Given the description of an element on the screen output the (x, y) to click on. 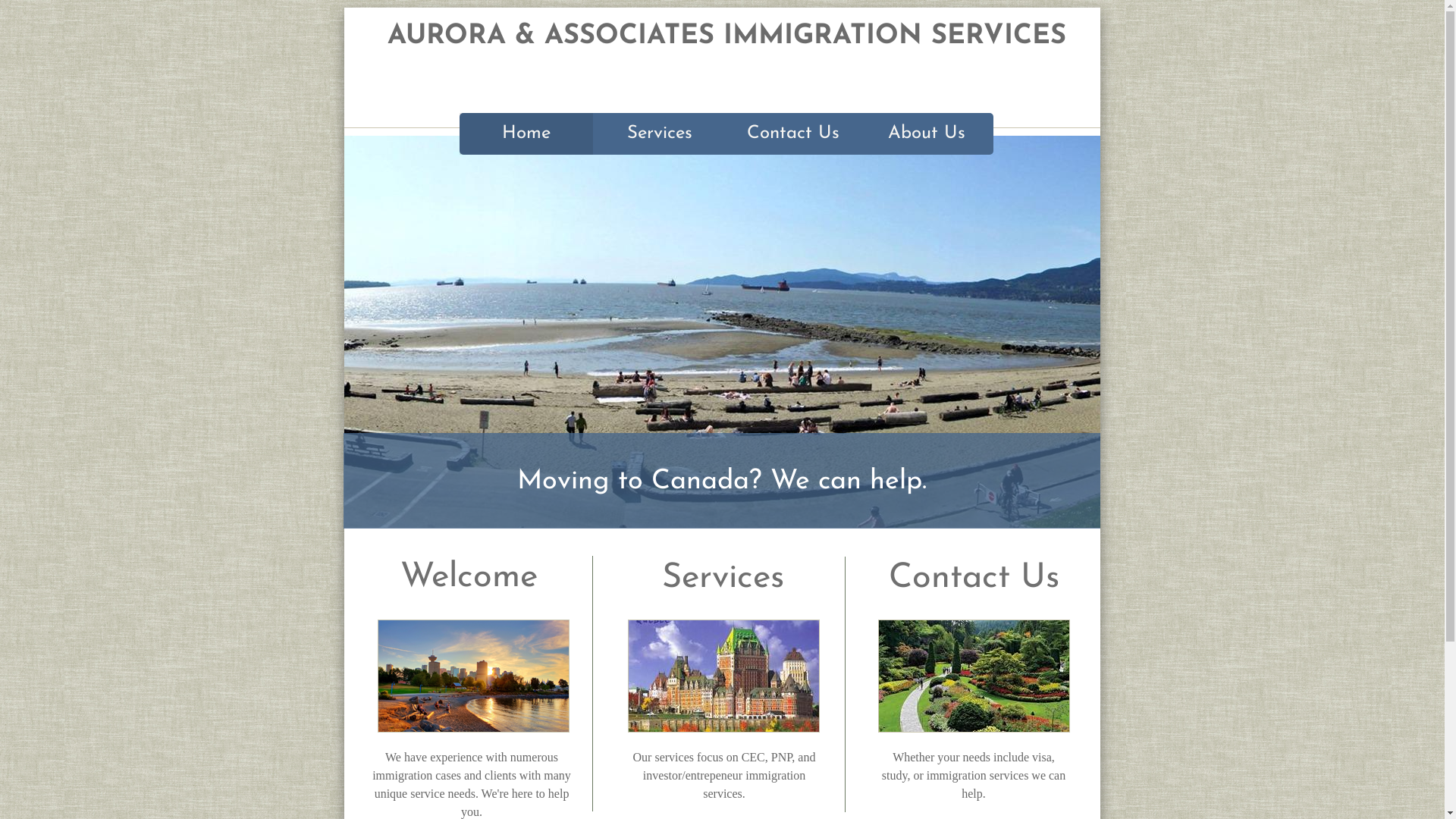
Services Element type: text (659, 133)
About Us Element type: text (926, 133)
Home Element type: text (526, 133)
Contact Us Element type: text (792, 133)
